Given the description of an element on the screen output the (x, y) to click on. 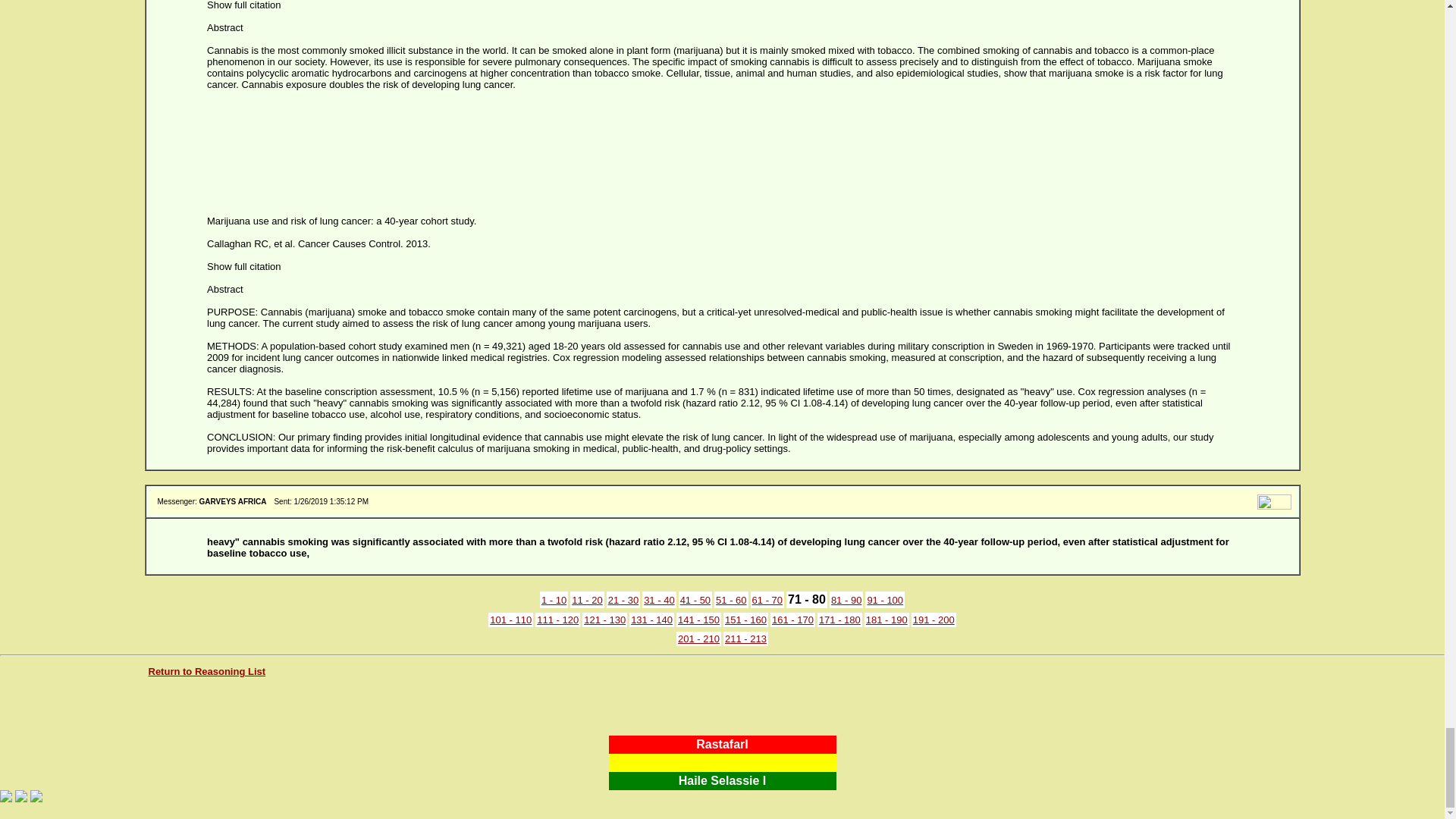
21 - 30 (623, 600)
41 - 50 (694, 600)
51 - 60 (730, 600)
31 - 40 (658, 600)
1 - 10 (553, 600)
11 - 20 (587, 600)
